Given the description of an element on the screen output the (x, y) to click on. 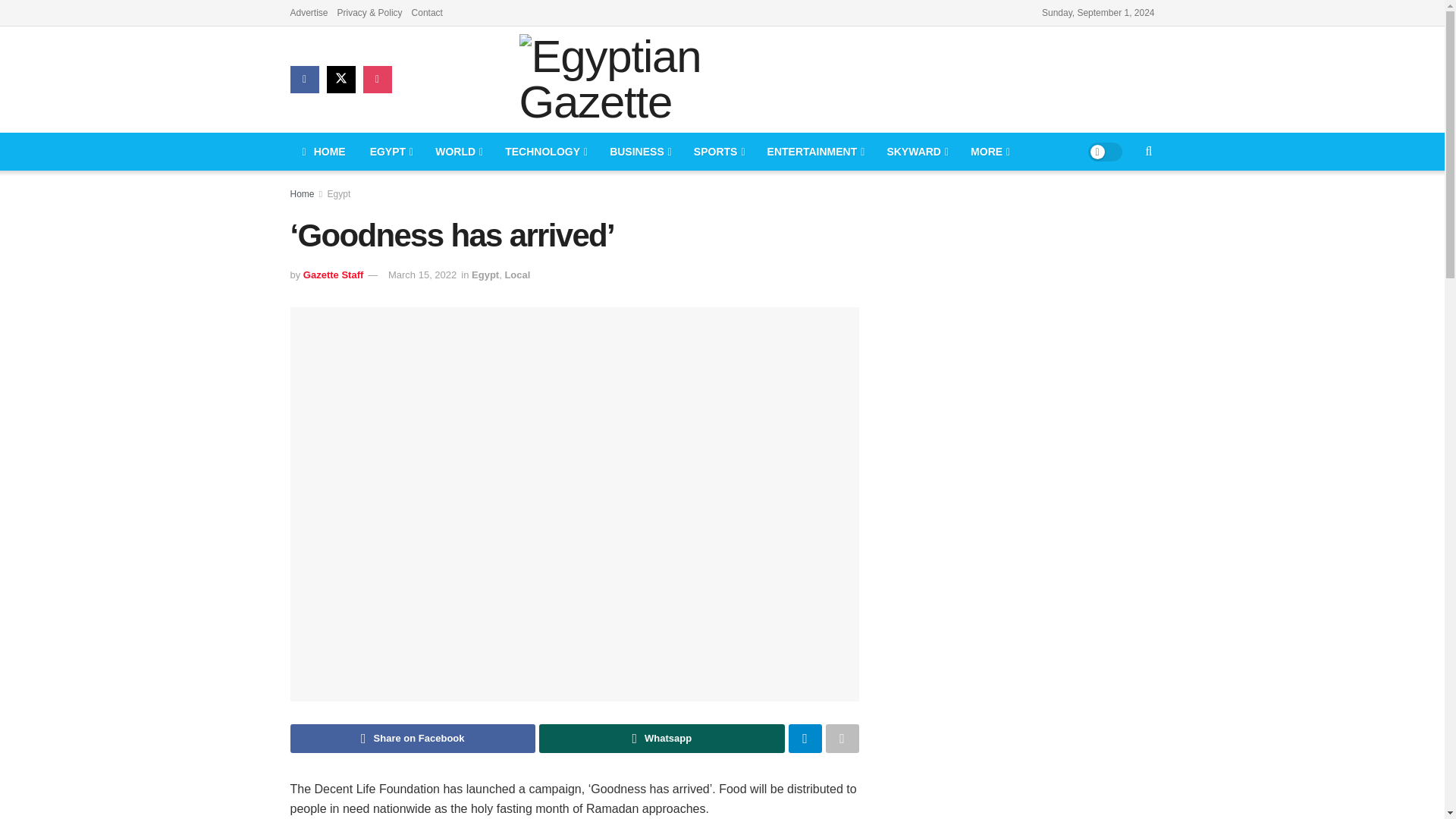
BUSINESS (638, 151)
Contact (427, 12)
ENTERTAINMENT (815, 151)
TECHNOLOGY (544, 151)
EGYPT (390, 151)
HOME (322, 151)
WORLD (458, 151)
SPORTS (718, 151)
MORE (989, 151)
SKYWARD (916, 151)
